Given the description of an element on the screen output the (x, y) to click on. 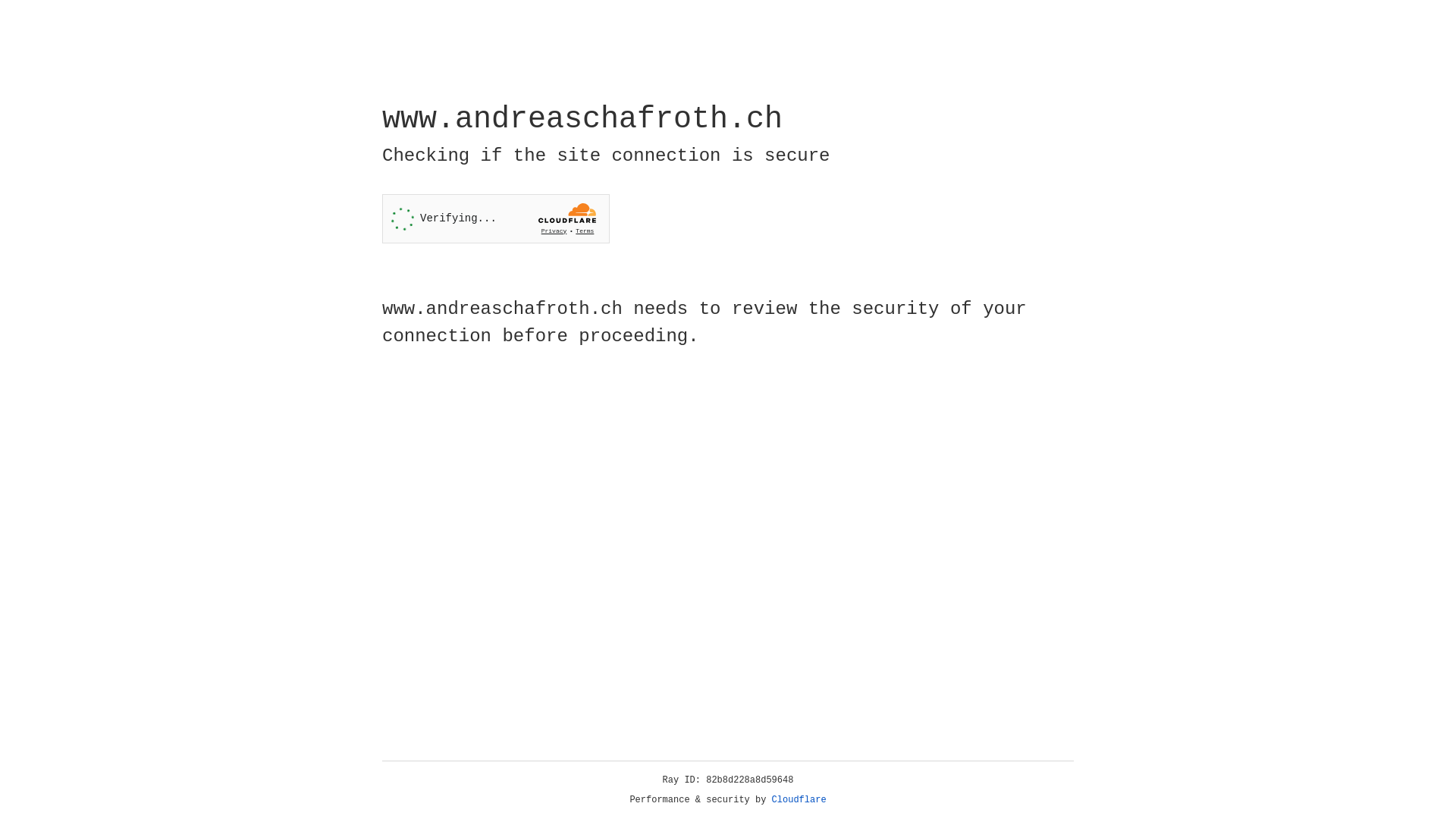
Widget containing a Cloudflare security challenge Element type: hover (495, 218)
Cloudflare Element type: text (798, 799)
